Given the description of an element on the screen output the (x, y) to click on. 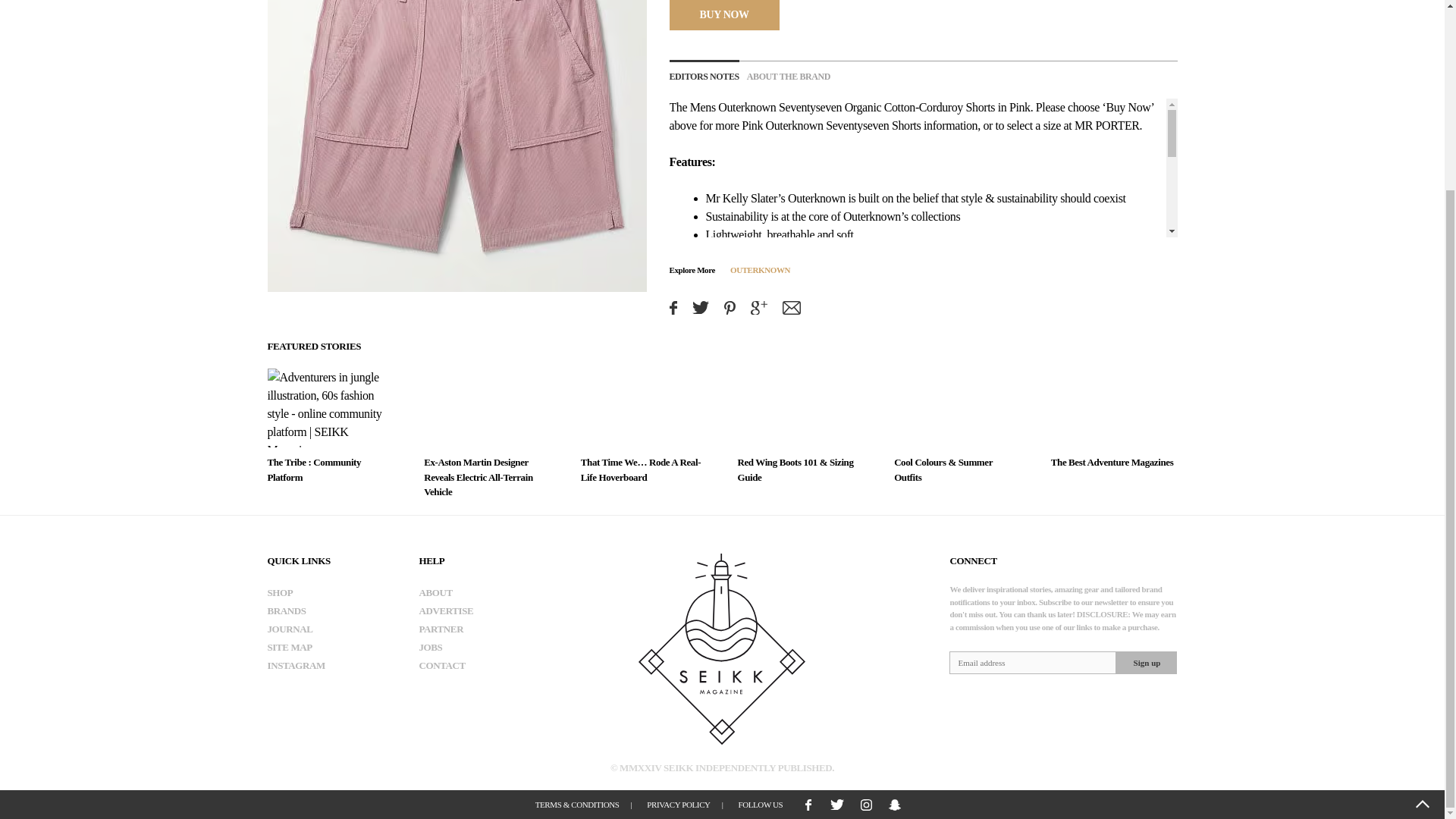
BUY NOW (723, 14)
Outerknown (746, 106)
OUTERKNOWN (760, 268)
